Given the description of an element on the screen output the (x, y) to click on. 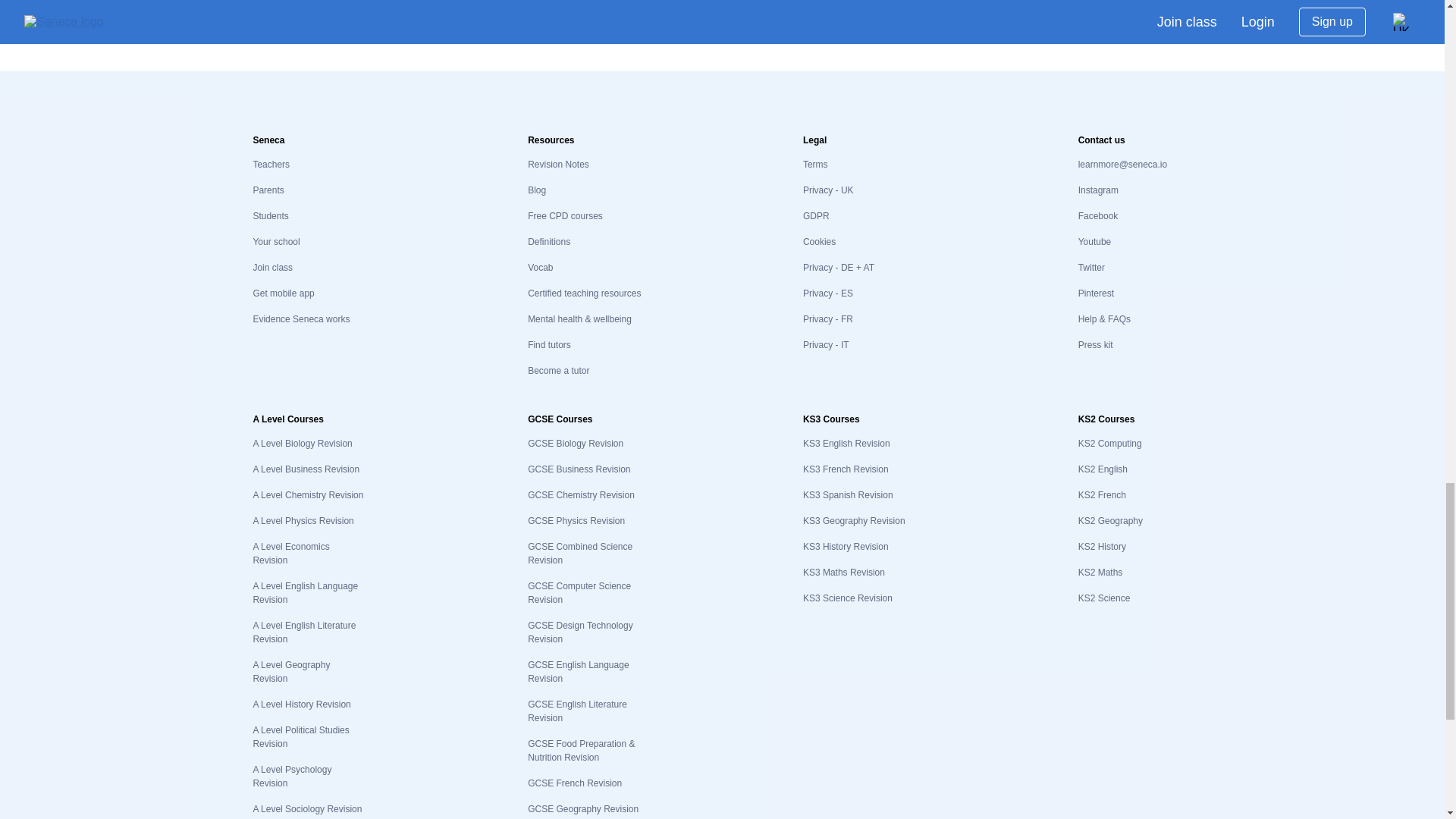
Facebook (1098, 215)
Previous post (556, 18)
Privacy - FR (828, 318)
Next post (899, 18)
Certified teaching resources (583, 293)
Definitions (548, 241)
Privacy - UK (828, 190)
Blog (536, 190)
Privacy - ES (828, 293)
Evidence Seneca works (300, 318)
